Given the description of an element on the screen output the (x, y) to click on. 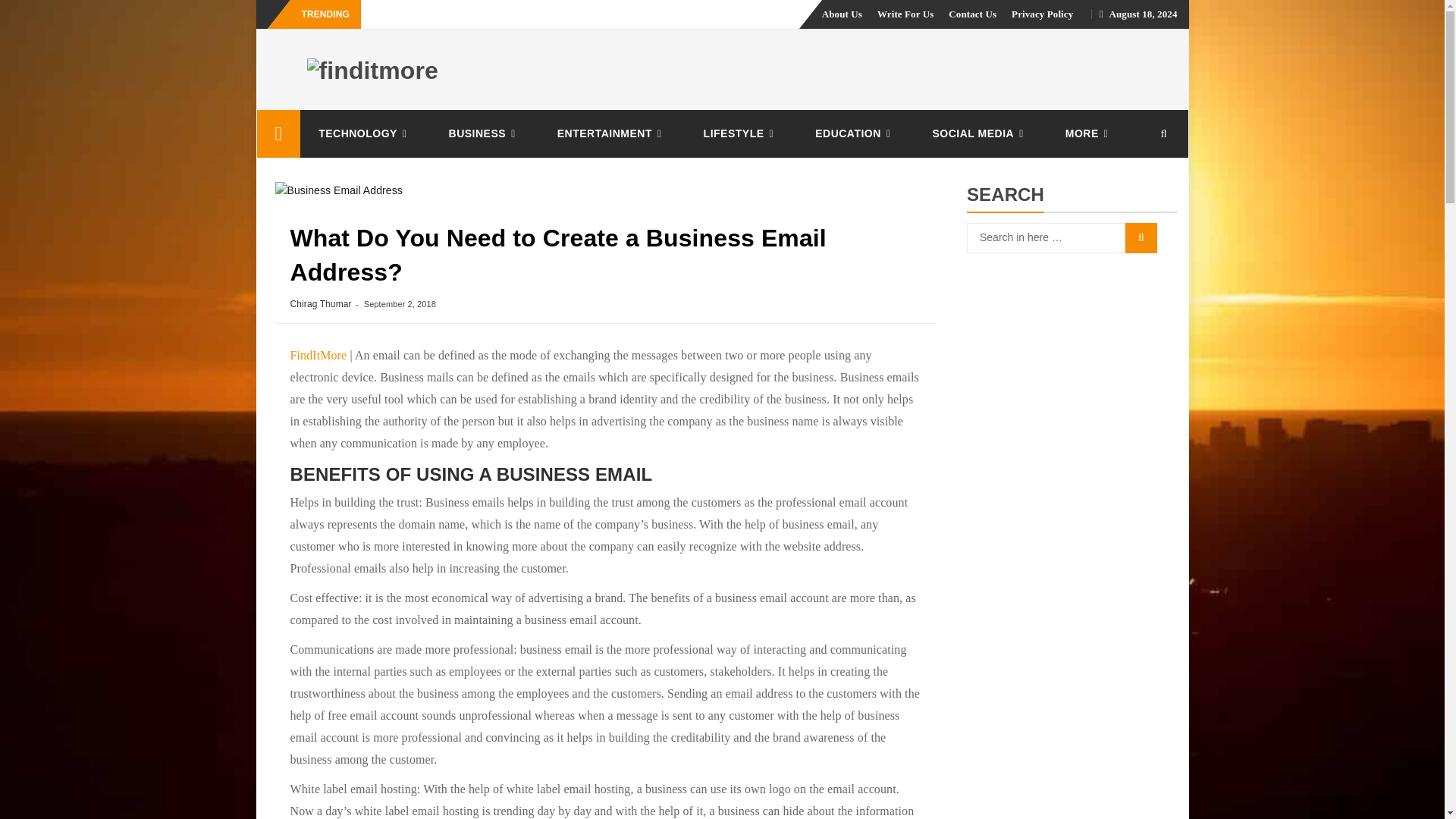
Contact Us (972, 13)
TECHNOLOGY (364, 133)
LIFESTYLE (741, 133)
Write For Us (905, 13)
FindItMore (277, 133)
Search (1141, 237)
About Us (841, 13)
Search for: (1045, 237)
BUSINESS (484, 133)
